Given the description of an element on the screen output the (x, y) to click on. 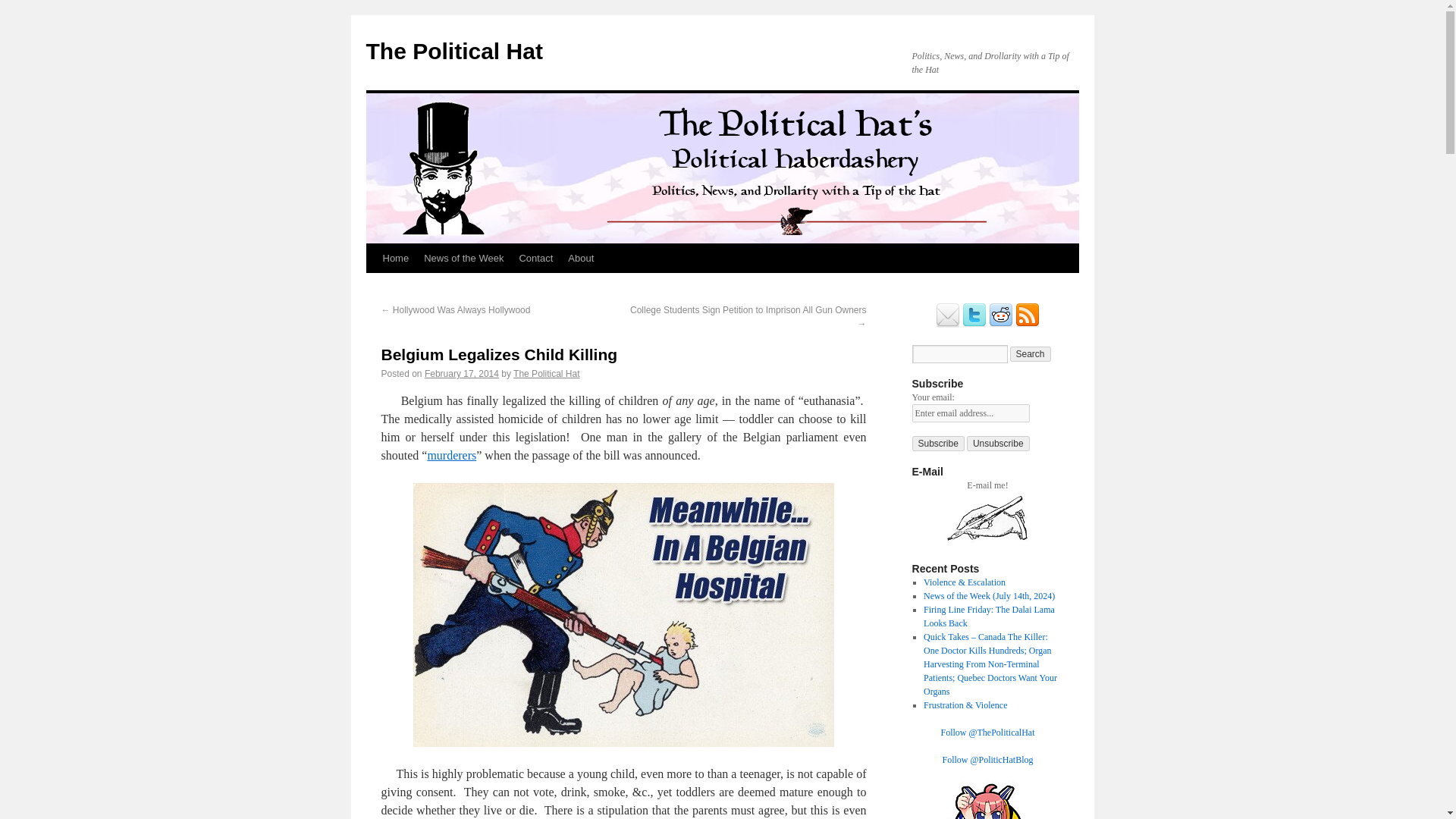
The Political Hat (453, 50)
The Political Hat (546, 373)
Subscribe (937, 443)
View all posts by The Political Hat (546, 373)
Enter email address... (970, 413)
Unsubscribe (997, 443)
February 17, 2014 (462, 373)
Home (395, 258)
Contact (535, 258)
The Political Hat (453, 50)
About (580, 258)
Blog Twitter Feed (974, 324)
Unsubscribe (997, 443)
E-Mail Me (947, 324)
Subscribe (937, 443)
